Given the description of an element on the screen output the (x, y) to click on. 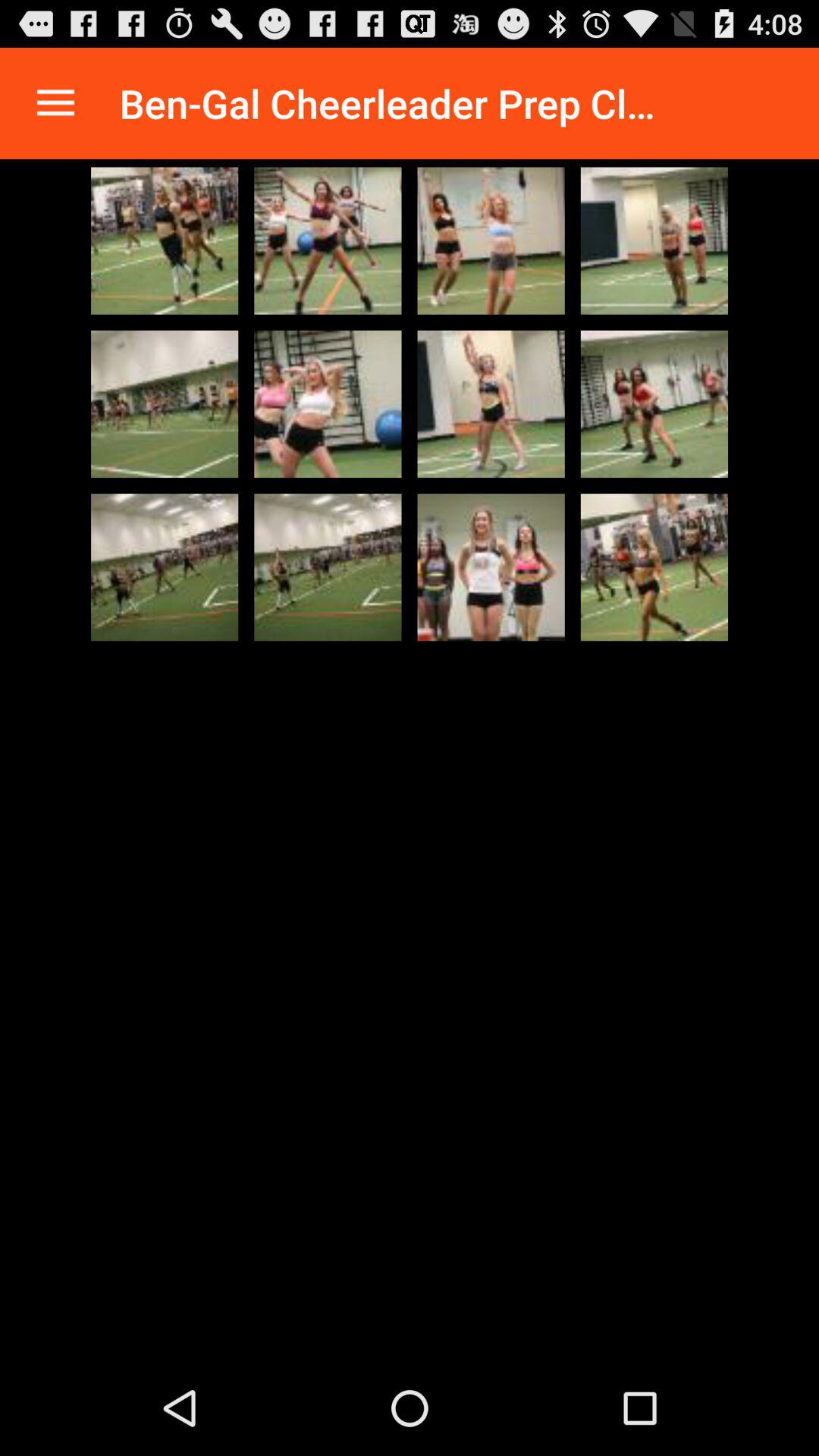
clickable picture (490, 566)
